Given the description of an element on the screen output the (x, y) to click on. 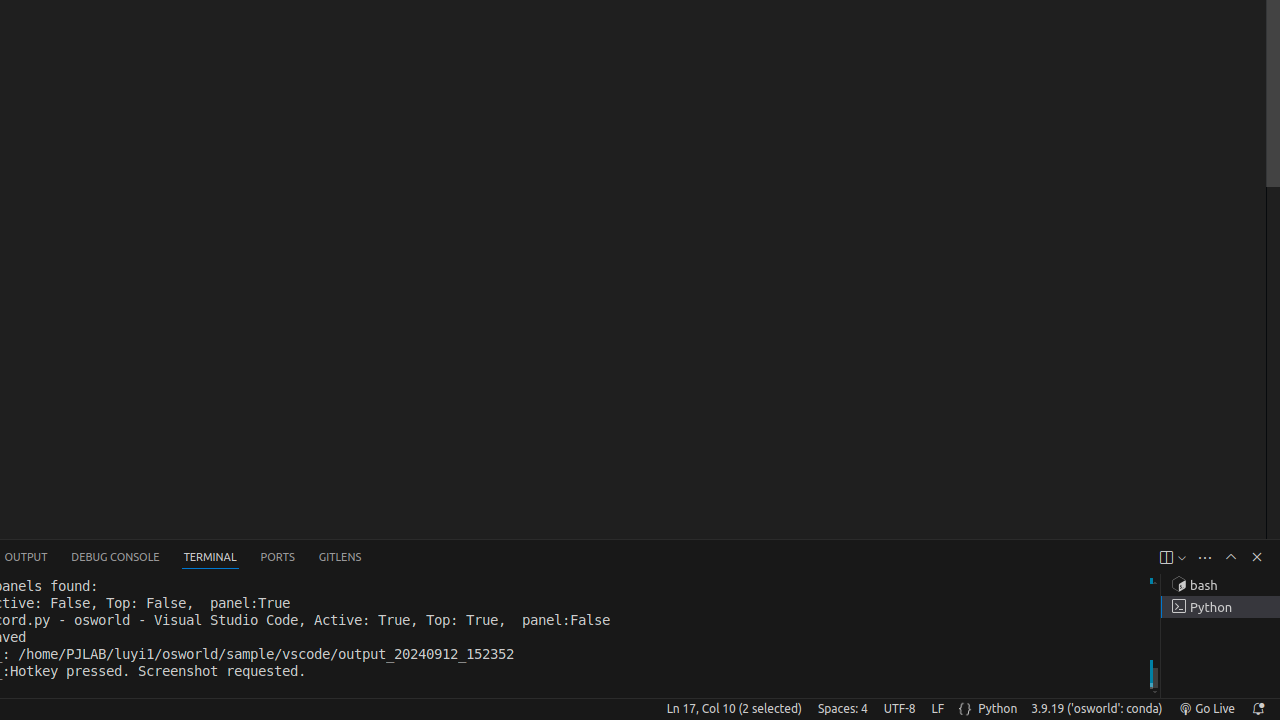
Ports Element type: page-tab (277, 557)
UTF-8 Element type: push-button (899, 709)
Terminal (Ctrl+`) Element type: page-tab (210, 557)
Python Element type: push-button (998, 709)
Ln 17, Col 10 (2 selected) Element type: push-button (734, 709)
